Given the description of an element on the screen output the (x, y) to click on. 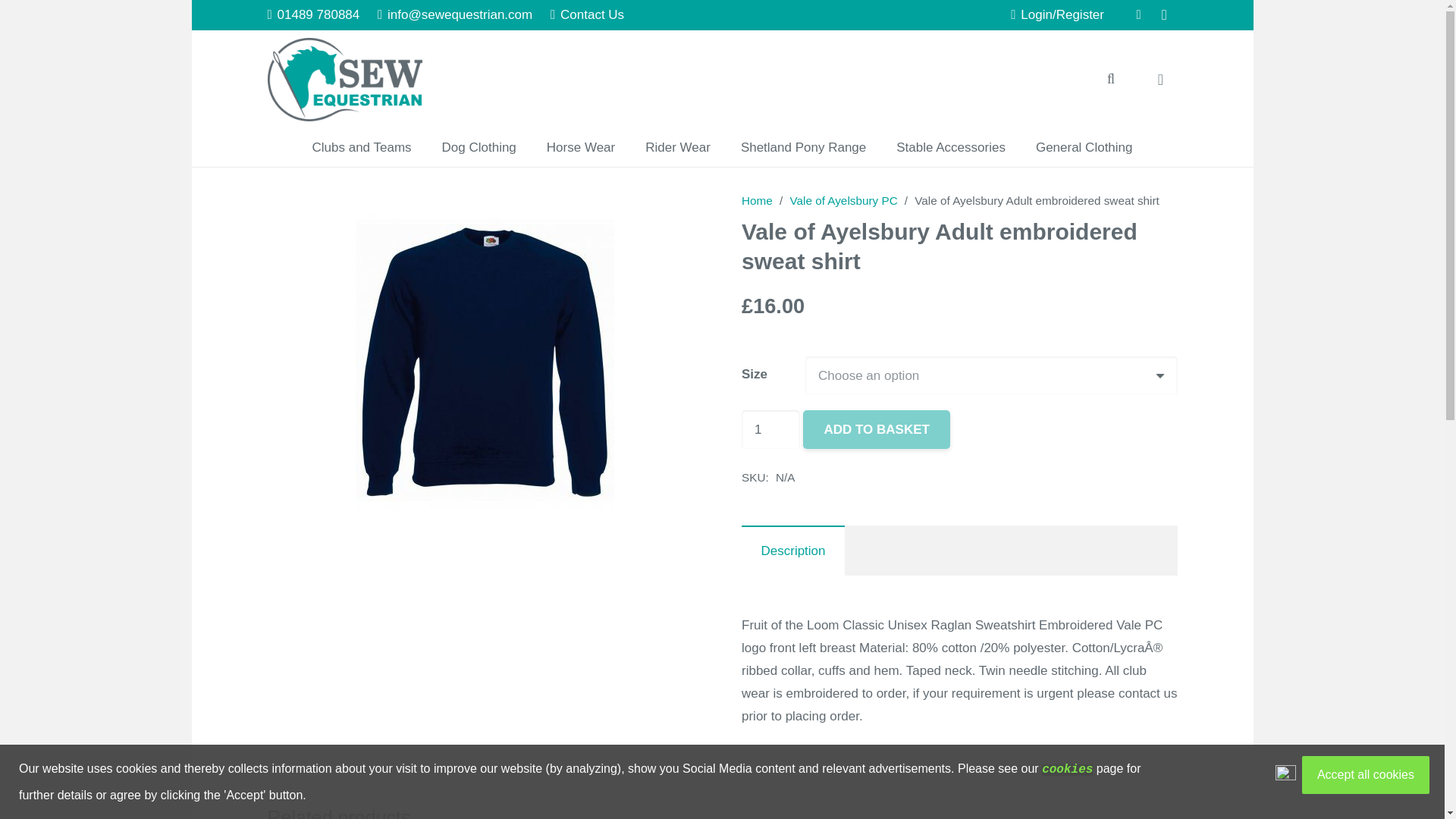
01489 780884 (312, 14)
Instagram (1163, 14)
Contact Us (587, 14)
1 (770, 429)
Clubs and Teams (361, 147)
Facebook (1138, 14)
